Given the description of an element on the screen output the (x, y) to click on. 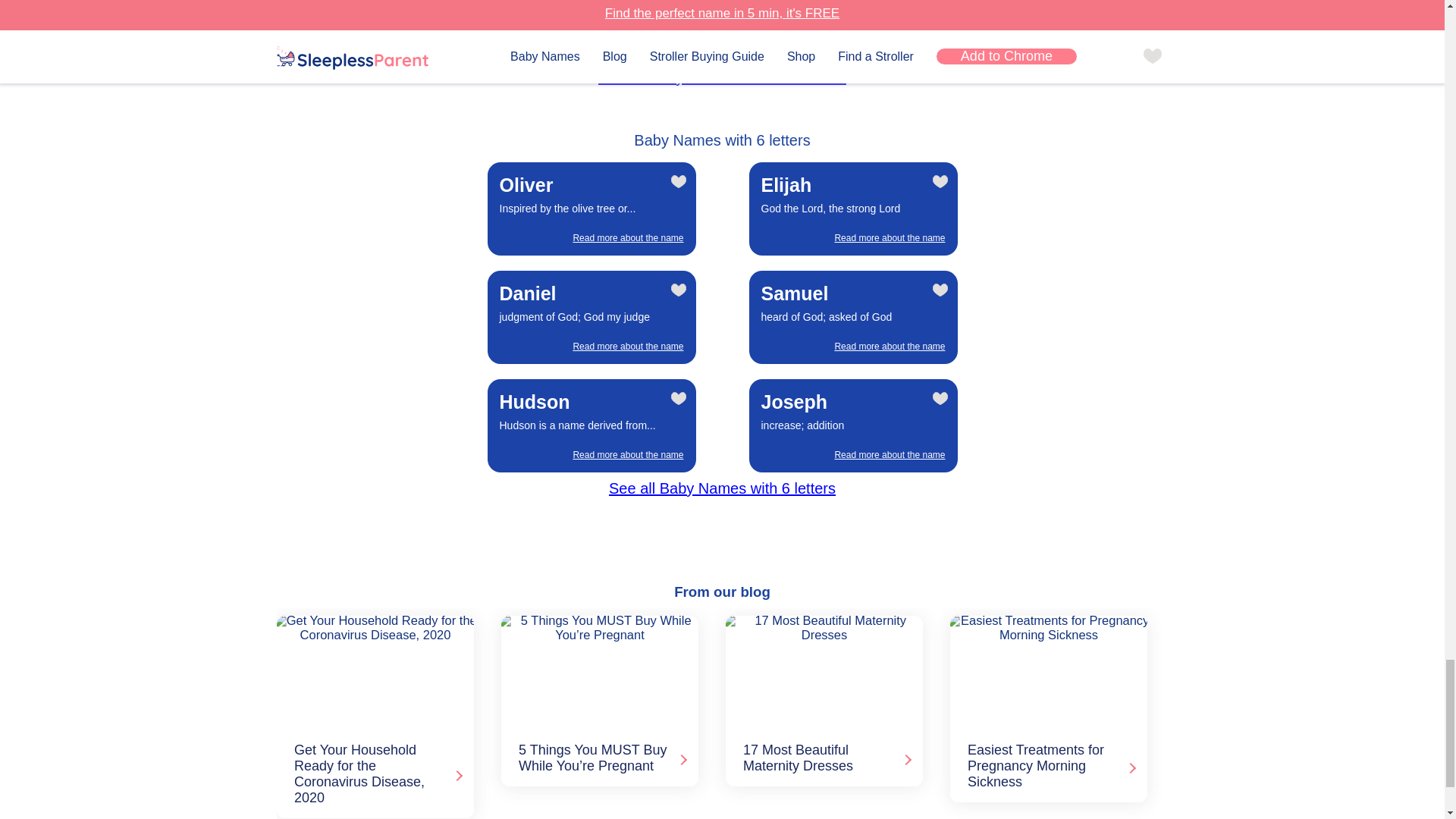
Easiest Treatments for Pregnancy Morning Sickness (1045, 671)
17 Most Beautiful Maternity Dresses (821, 671)
Get Your Household Ready for the Coronavirus Disease, 2020 (371, 671)
